Given the description of an element on the screen output the (x, y) to click on. 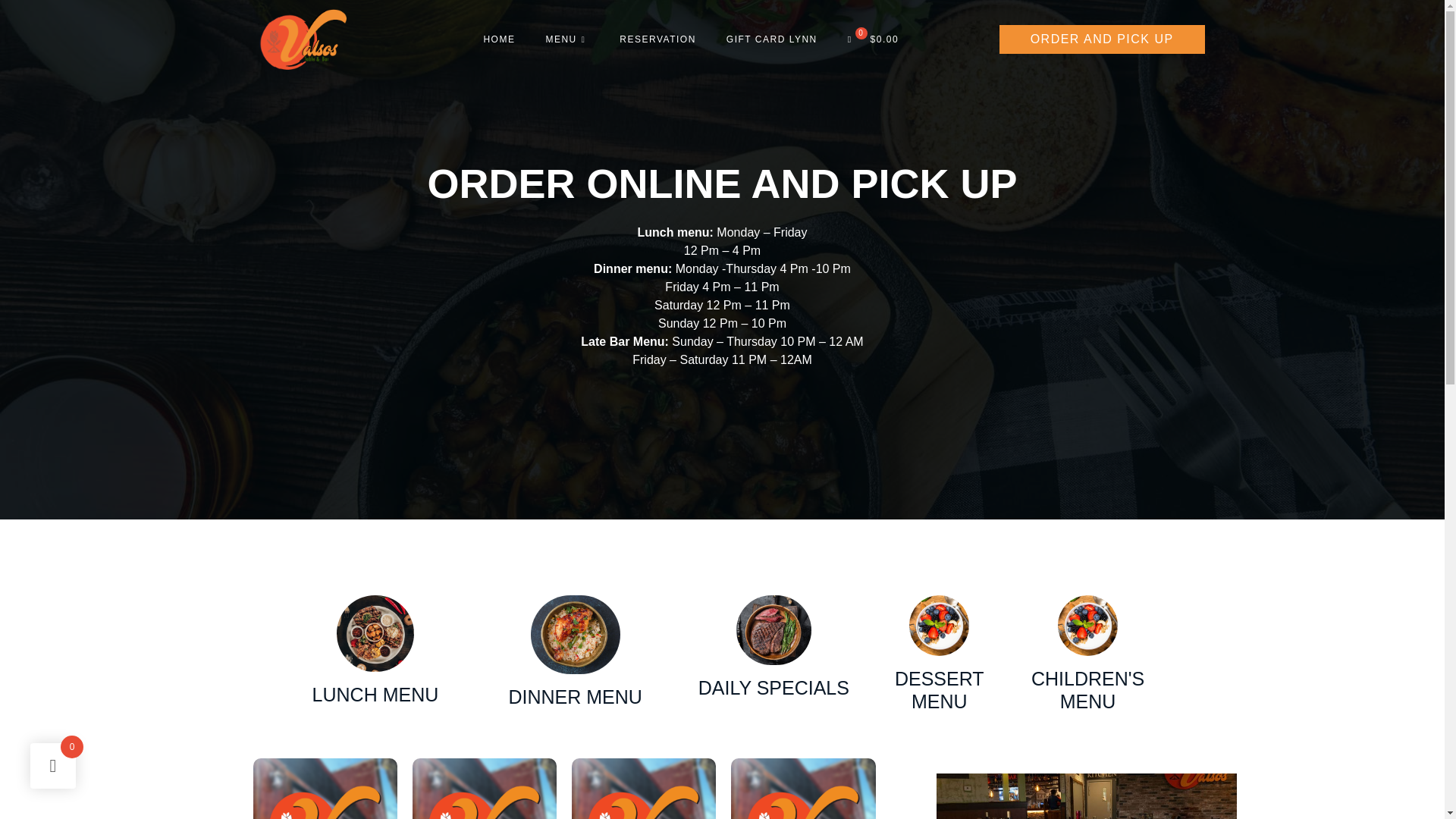
ORDER AND PICK UP (1063, 39)
DAILY SPECIALS (773, 687)
LUNCH MENU (376, 694)
LUNCH MENU (374, 653)
CHILDREN'S MENU (1088, 653)
DESSERT MENU (939, 653)
DAILY SPECIALS (773, 653)
CHILDREN'S MENU (1087, 689)
GIFT CARD LYNN (771, 39)
ORDER AND PICK UP (1101, 39)
DINNER MENU (575, 653)
HOME (498, 39)
RESERVATION (657, 39)
MENU (566, 39)
